Given the description of an element on the screen output the (x, y) to click on. 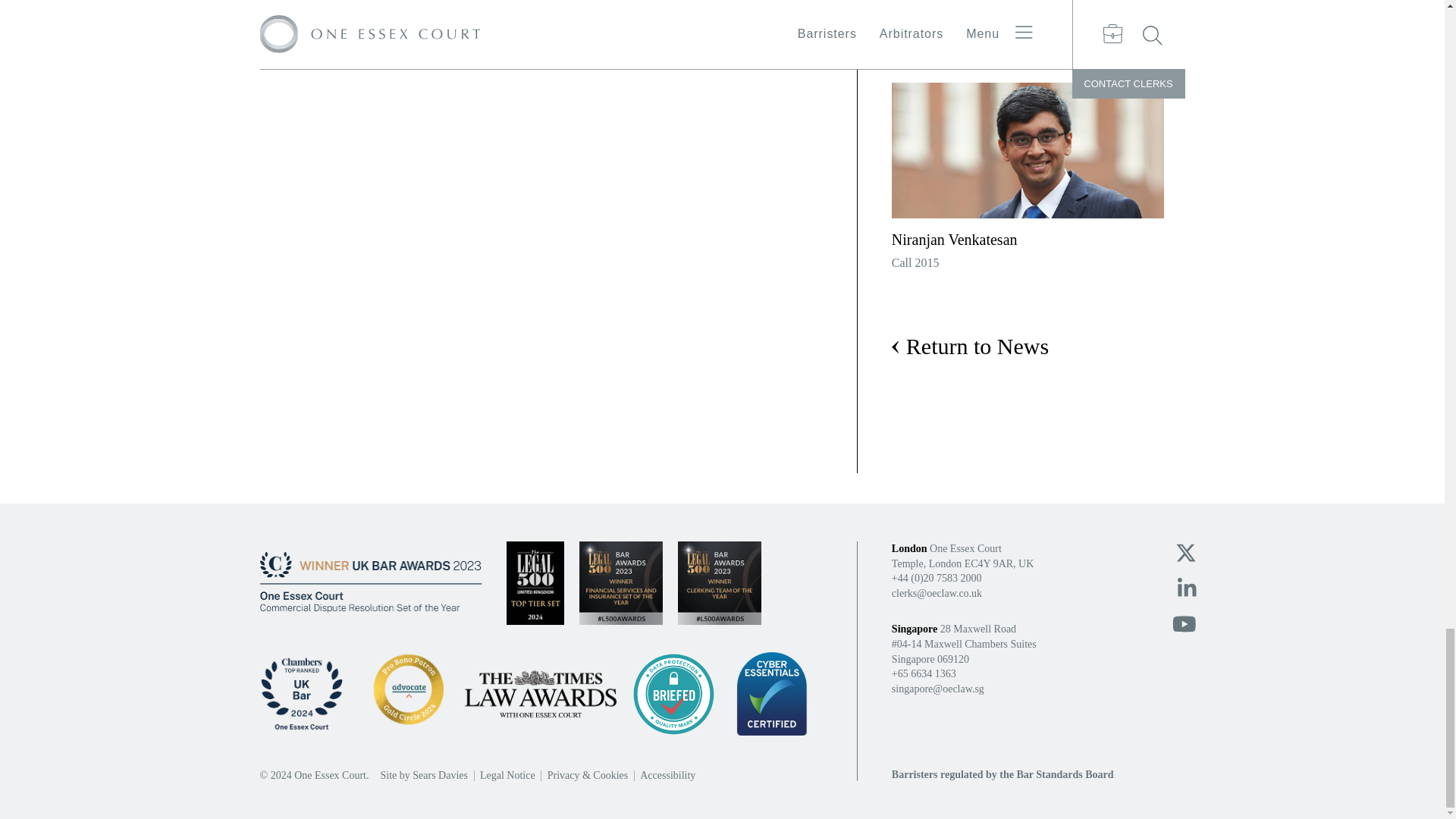
Clerking of the year (719, 582)
Advocate (407, 693)
Cyber Essentials (771, 693)
FS Set of the year (620, 582)
Times Law Awards (539, 694)
Chambers Top Ranked (300, 693)
Quality Mark for Data Protection from Briefed (672, 693)
